Given the description of an element on the screen output the (x, y) to click on. 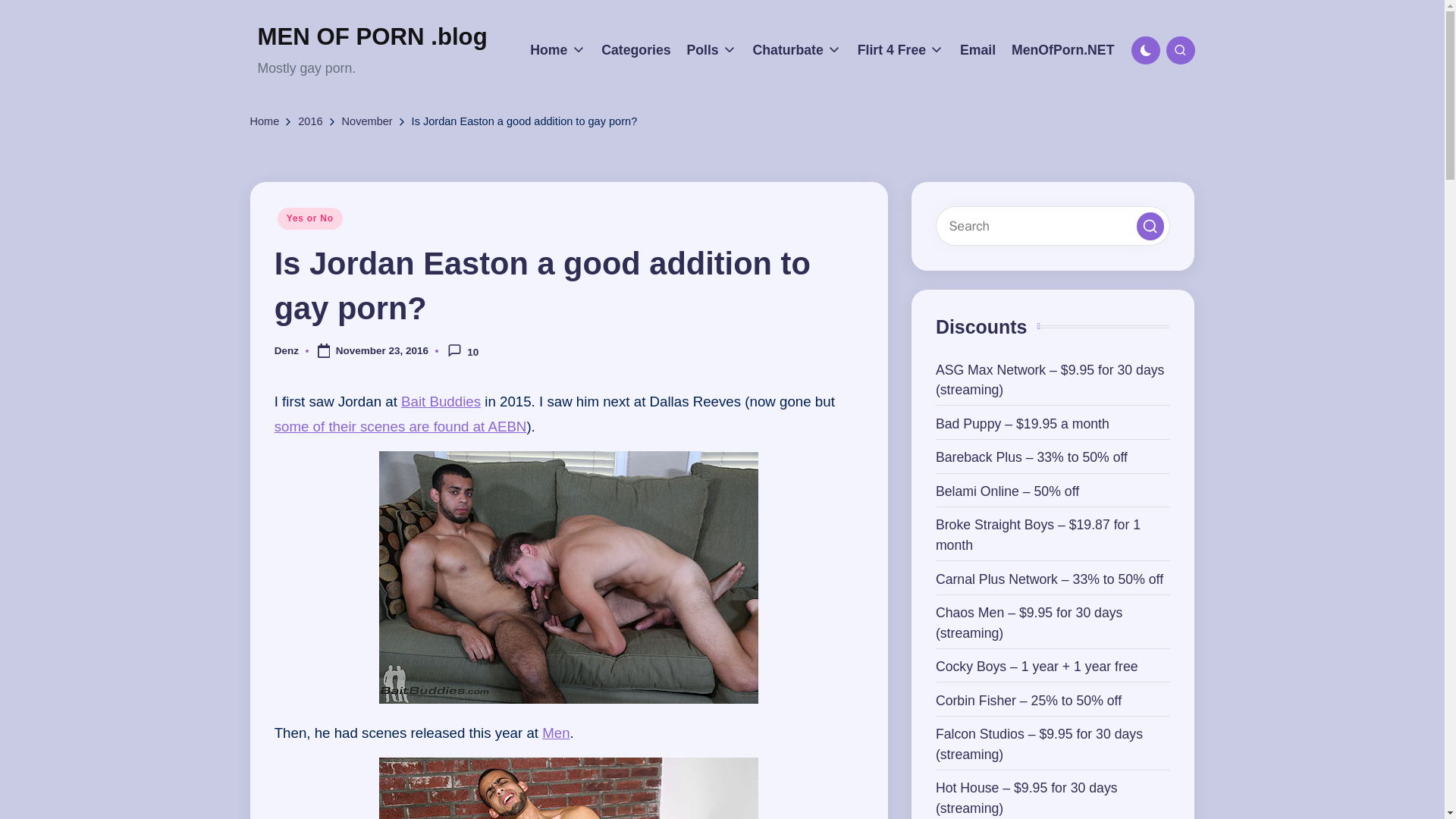
View all posts by Denz (286, 350)
Polls (710, 50)
Chaturbate (796, 50)
MEN OF PORN .blog (372, 37)
Home (557, 50)
Categories (635, 50)
